Given the description of an element on the screen output the (x, y) to click on. 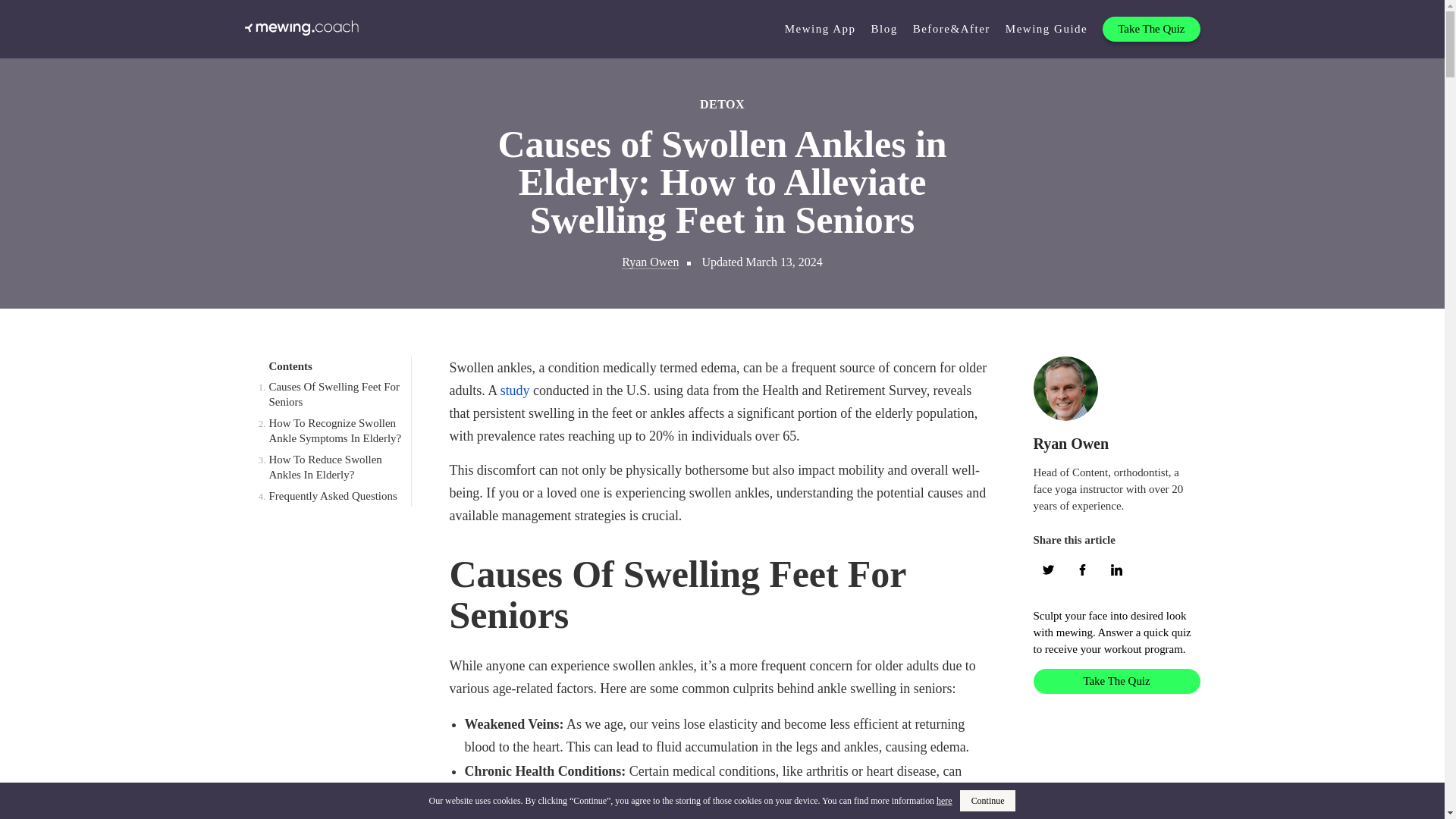
Mewing Guide (1046, 29)
How To Recognize Swollen Ankle Symptoms In Elderly? (334, 430)
here (944, 800)
Causes Of Swelling Feet For Seniors (332, 393)
Take The Quiz (1115, 681)
study (514, 390)
Blog (884, 29)
Ryan Owen (649, 262)
How To Reduce Swollen Ankles In Elderly? (324, 466)
Posts by Ryan Owen (1070, 443)
Ryan Owen (1070, 443)
Frequently Asked Questions (331, 495)
DETOX (722, 104)
Mewing App (820, 29)
Take The Quiz (1150, 28)
